Given the description of an element on the screen output the (x, y) to click on. 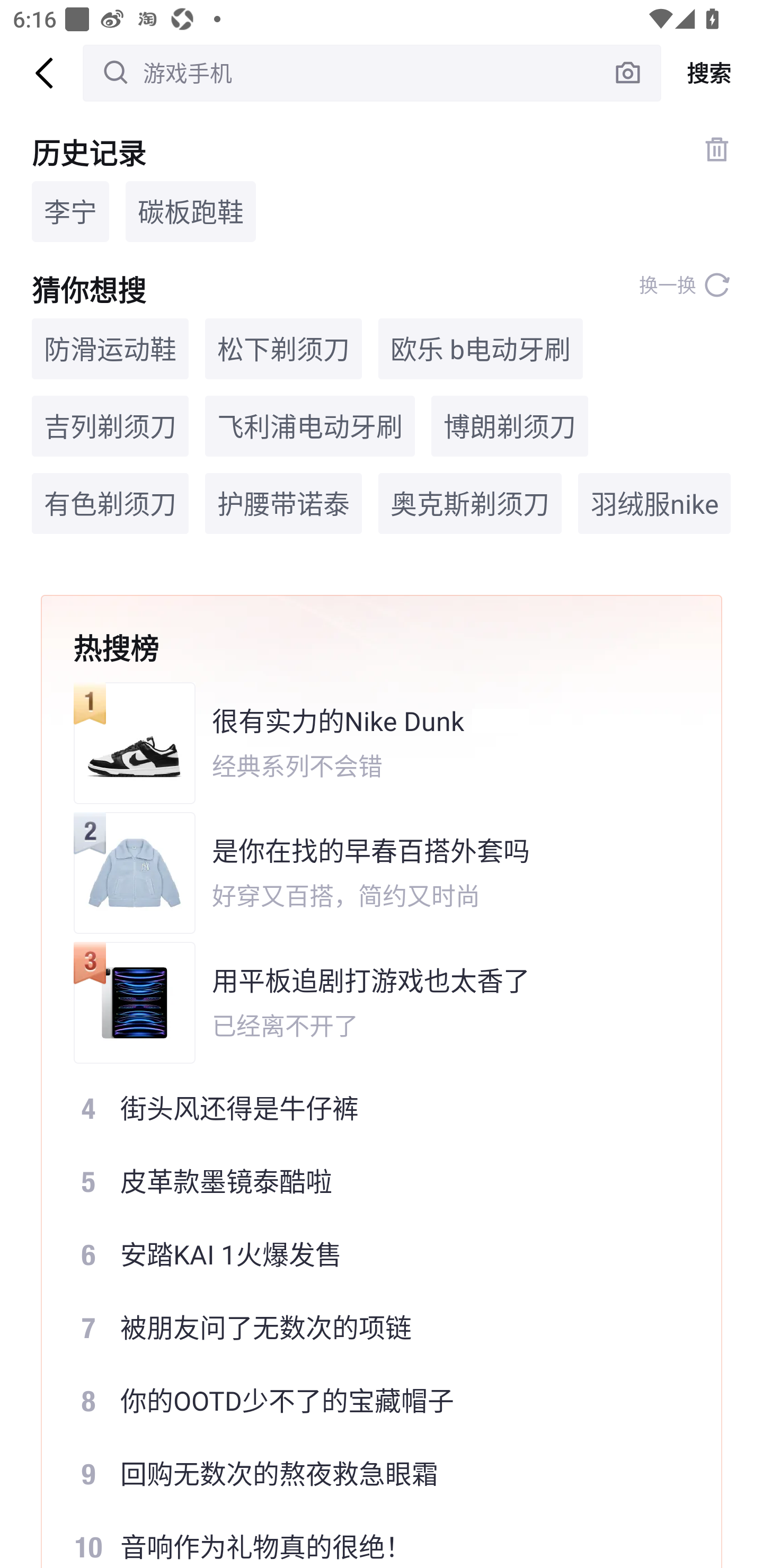
搜索 (712, 72)
游戏手机 (371, 72)
李宁 (70, 211)
碳板跑鞋 (190, 211)
换一换 (684, 285)
防滑运动鞋 (110, 348)
松下剃须刀 (283, 348)
欧乐 b电动牙刷 (480, 348)
吉列剃须刀 (110, 425)
飞利浦电动牙刷 (310, 425)
博朗剃须刀 (509, 425)
有色剃须刀 (110, 503)
护腰带诺泰 (283, 503)
奥克斯剃须刀 (469, 503)
羽绒服nike (654, 503)
很有实力的Nike Dunk 经典系列不会错 (369, 743)
是你在找的早春百搭外套吗 好穿又百搭，简约又时尚 (369, 873)
用平板追剧打游戏也太香了 已经离不开了 (369, 1002)
4 街头风还得是牛仔裤 (369, 1107)
5 皮革款墨镜泰酷啦 (369, 1181)
6 安踏KAI 1火爆发售 (369, 1254)
7 被朋友问了无数次的项链 (369, 1327)
8 你的OOTD少不了的宝藏帽子 (369, 1400)
9 回购无数次的熬夜救急眼霜 (369, 1473)
10 音响作为礼物真的很绝！ (369, 1538)
